Given the description of an element on the screen output the (x, y) to click on. 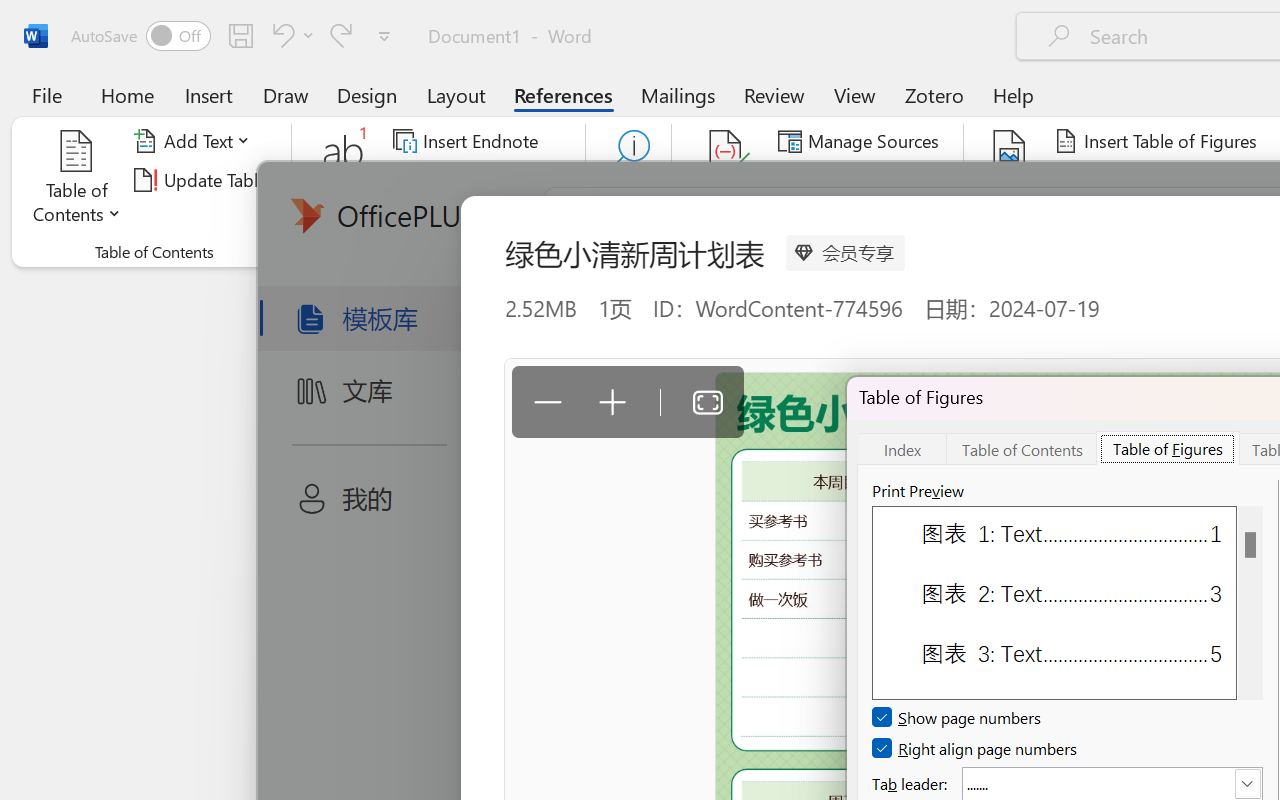
Undo Apply Quick Style Set (290, 35)
Table of Contents (77, 179)
Bibliography (854, 218)
Insert Endnote (468, 141)
Style (892, 179)
Table of Contents (1022, 447)
Update Table (1124, 179)
Right align page numbers (976, 748)
